Given the description of an element on the screen output the (x, y) to click on. 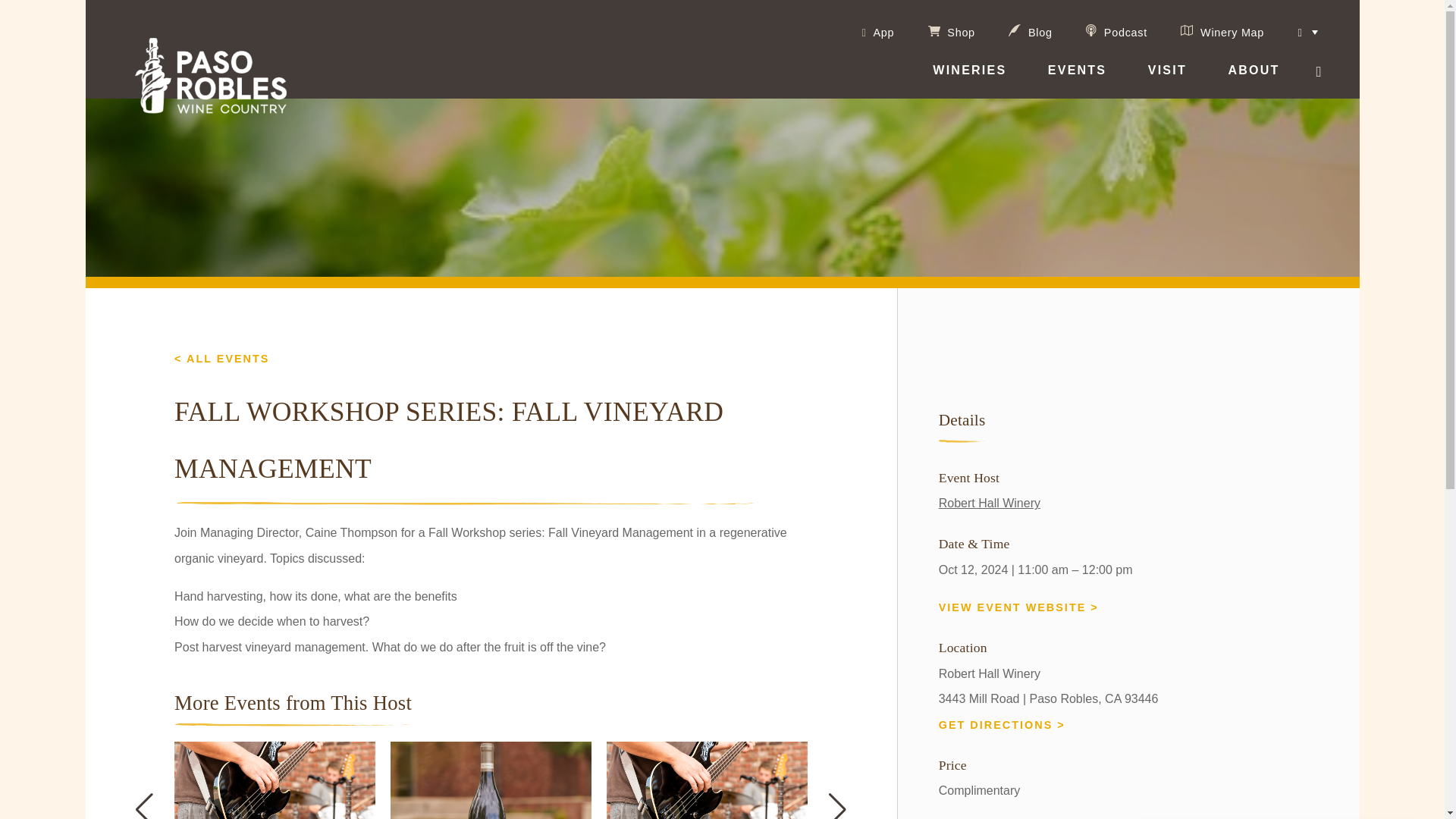
Winery Map (1222, 30)
App (876, 32)
Podcast (1115, 30)
EVENTS (1077, 79)
on (1339, 34)
ABOUT (1253, 79)
Shop (951, 31)
Blog (1029, 30)
VISIT (1167, 79)
WINERIES (969, 79)
